Given the description of an element on the screen output the (x, y) to click on. 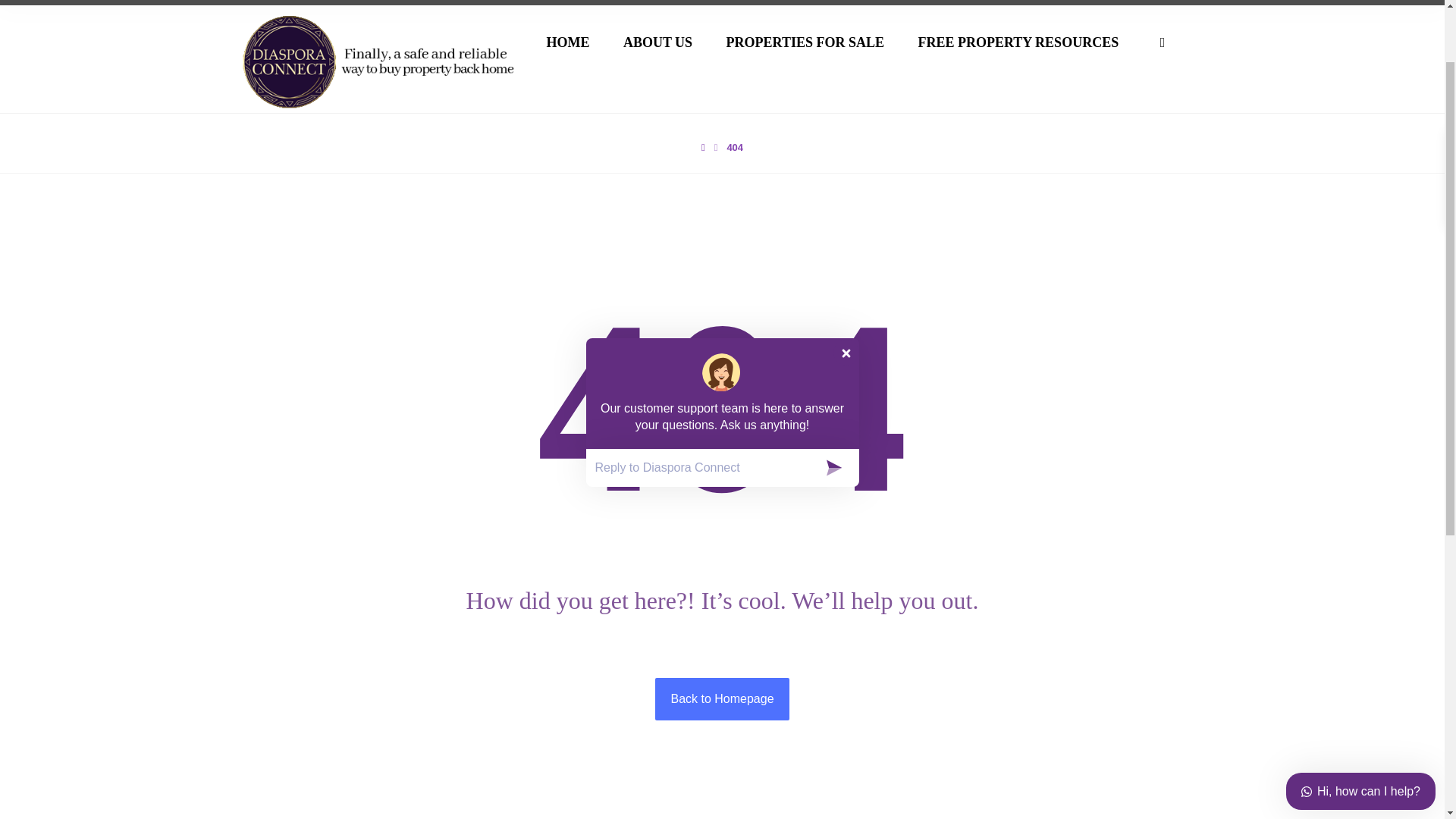
YouTube (608, 601)
404 (734, 147)
Find the right property for you in Zambia (383, 60)
Facebook (705, 601)
Back to Homepage (722, 699)
Instagram (657, 601)
LinkedIn (755, 601)
Twitter (804, 601)
Website design by 360nx Designs (1125, 707)
PROPERTIES FOR SALE (804, 42)
HOME (567, 42)
ABOUT US (658, 42)
FREE PROPERTY RESOURCES (1017, 42)
BOOK A CALL (291, 310)
